Given the description of an element on the screen output the (x, y) to click on. 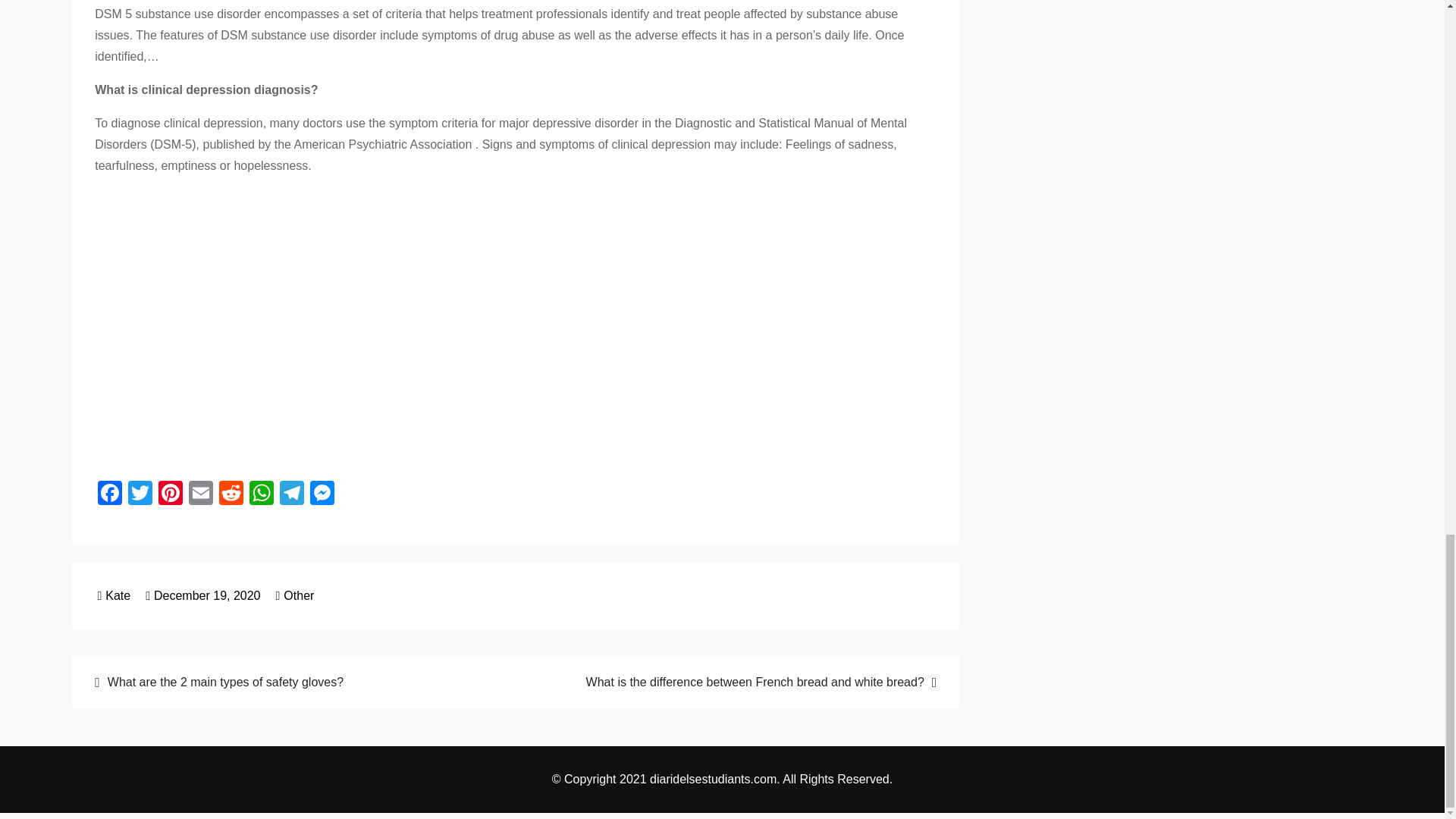
Twitter (140, 494)
What is the difference between French bread and white bread? (735, 681)
Kate (114, 594)
Reddit (230, 494)
Facebook (109, 494)
Twitter (140, 494)
Pinterest (170, 494)
Telegram (291, 494)
Email (200, 494)
Email (200, 494)
